Given the description of an element on the screen output the (x, y) to click on. 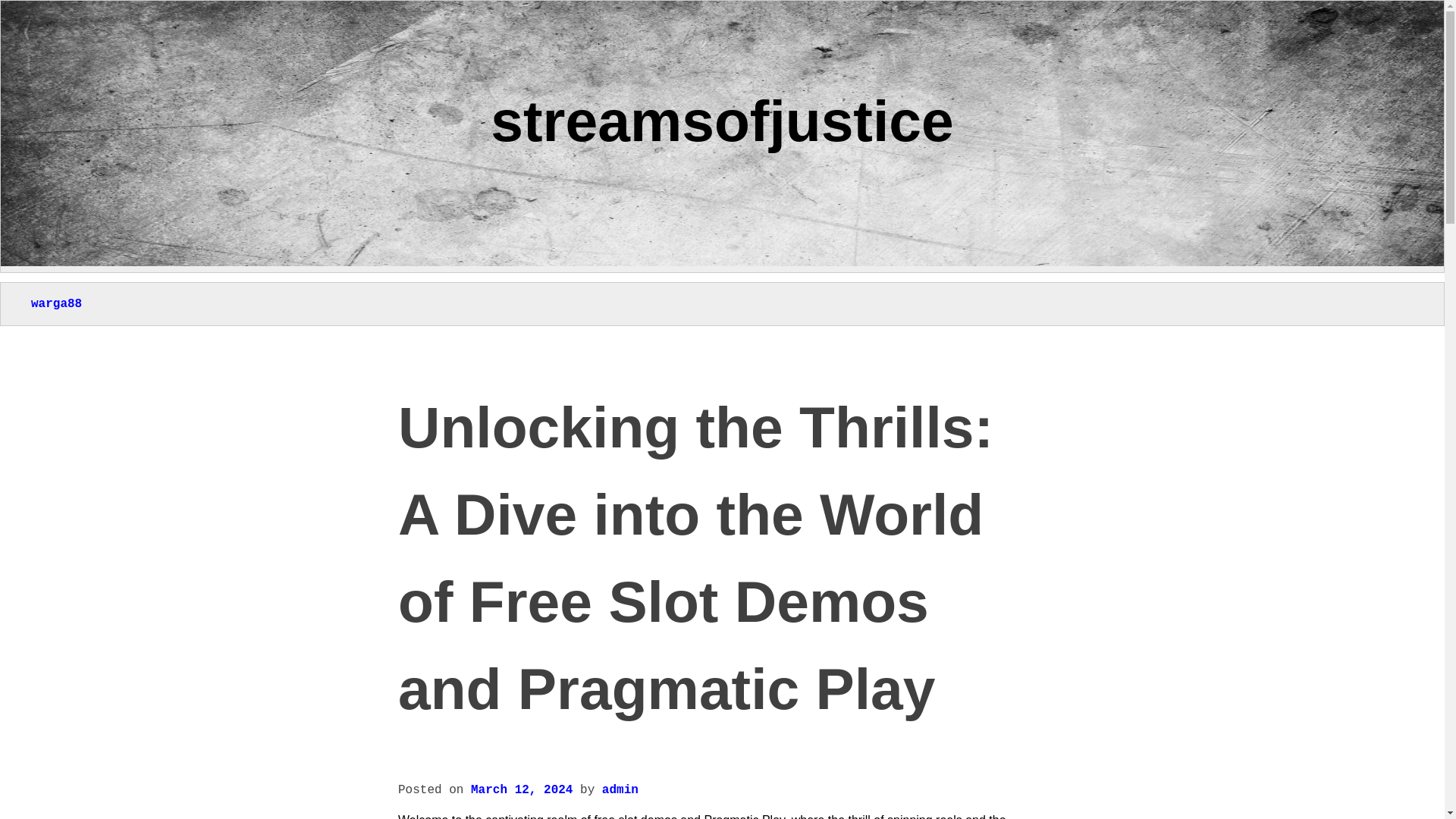
admin (620, 789)
warga88 (55, 304)
streamsofjustice (721, 120)
March 12, 2024 (521, 789)
